Given the description of an element on the screen output the (x, y) to click on. 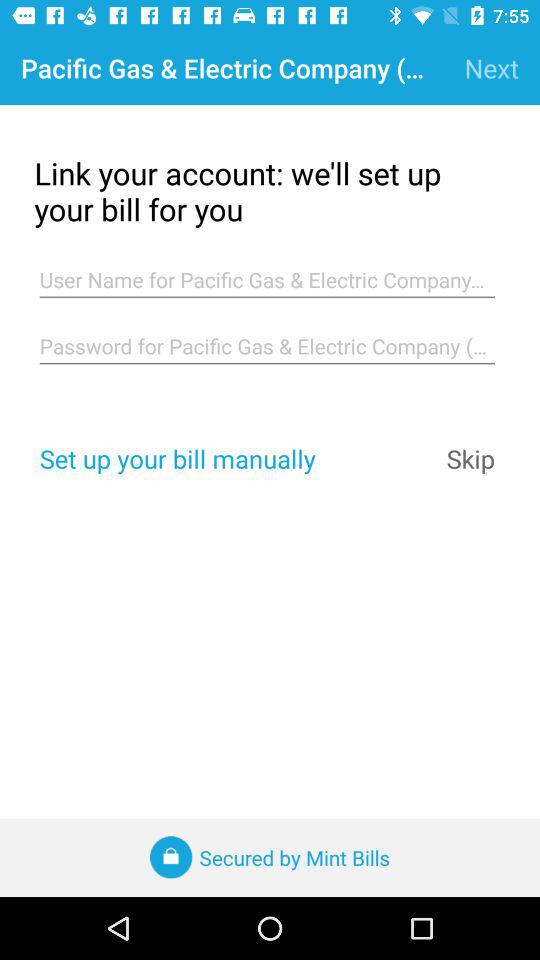
click the app next to pacific gas electric icon (491, 67)
